Given the description of an element on the screen output the (x, y) to click on. 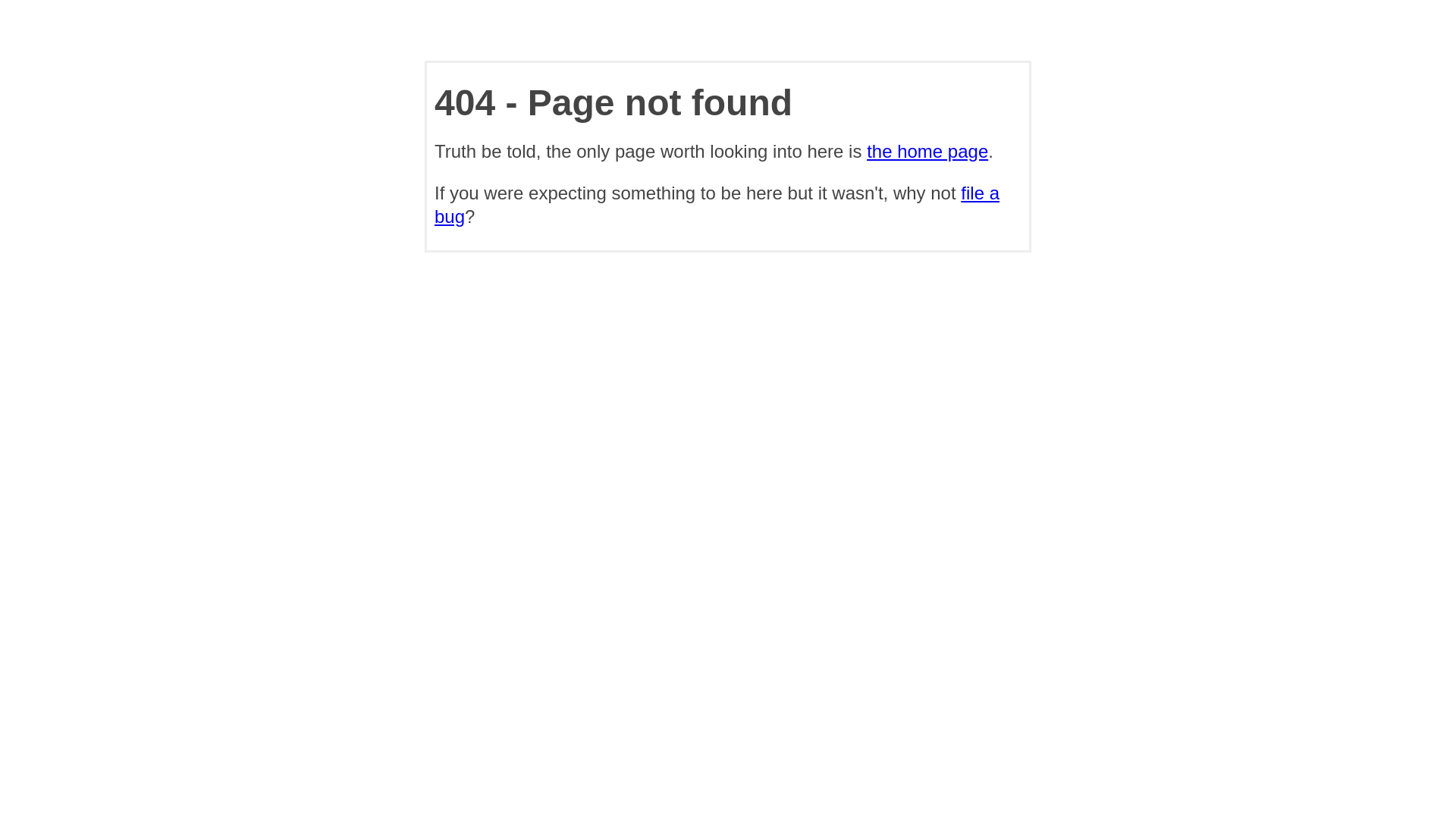
the home page Element type: text (927, 151)
file a bug Element type: text (716, 204)
